Given the description of an element on the screen output the (x, y) to click on. 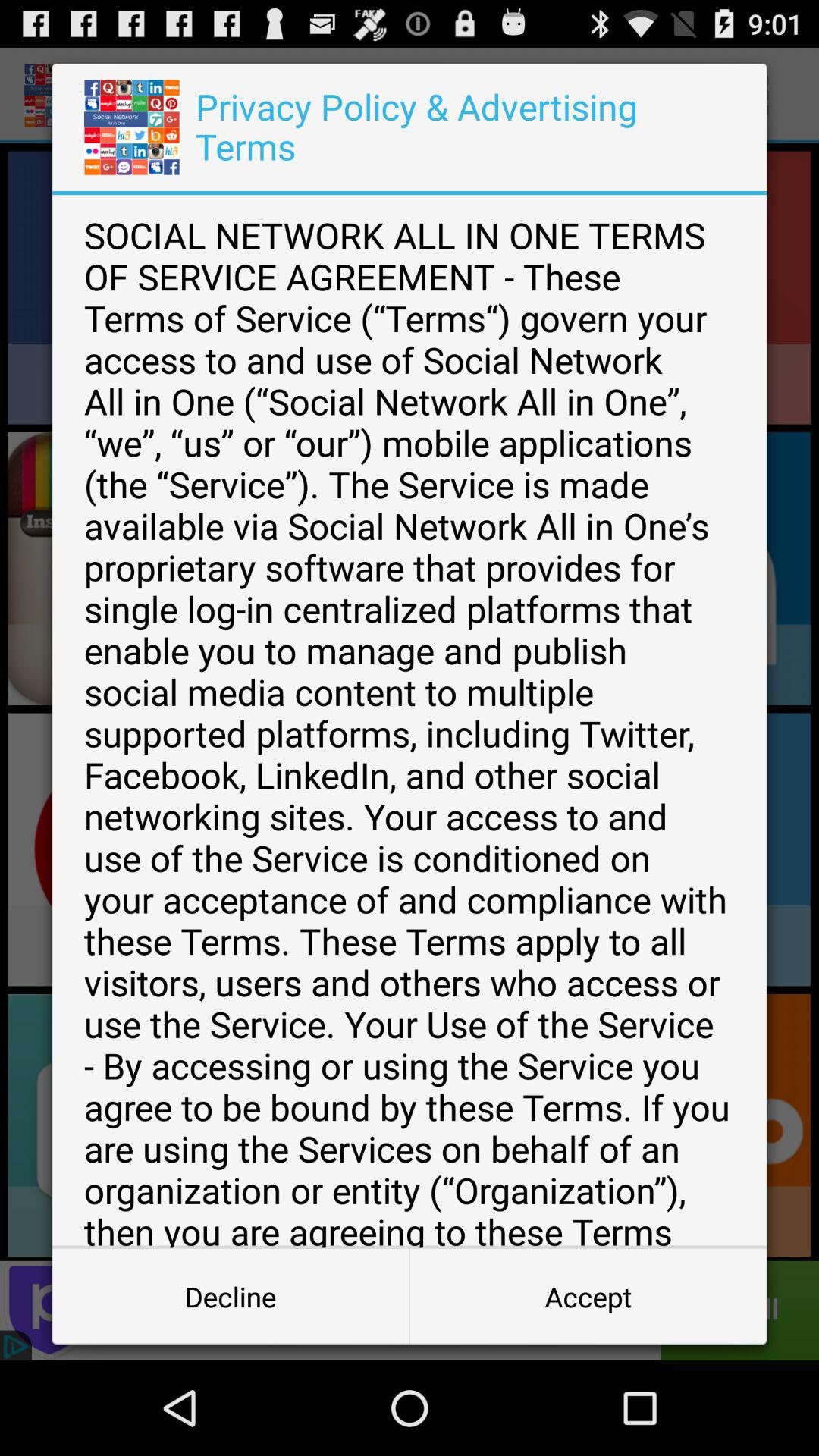
turn on button next to the decline (588, 1296)
